Given the description of an element on the screen output the (x, y) to click on. 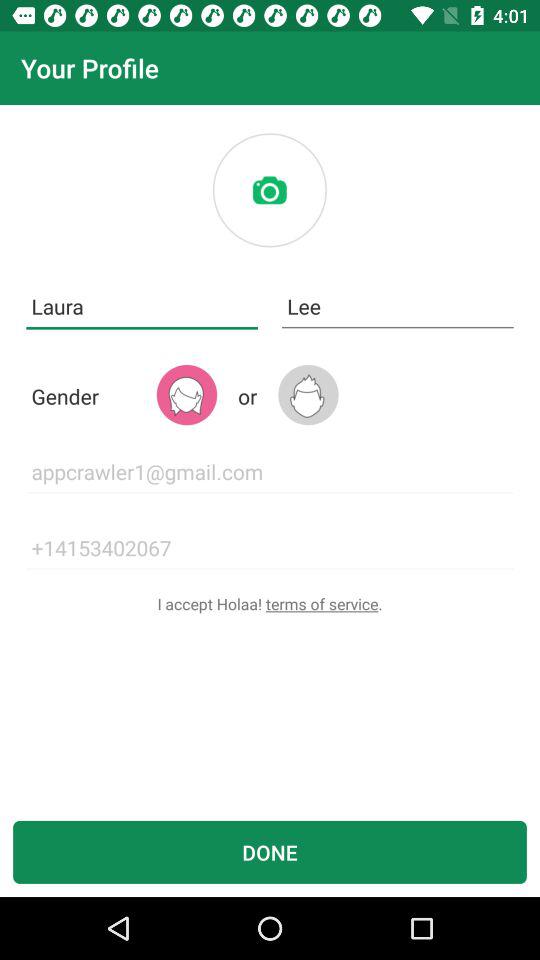
gender is female (186, 394)
